Given the description of an element on the screen output the (x, y) to click on. 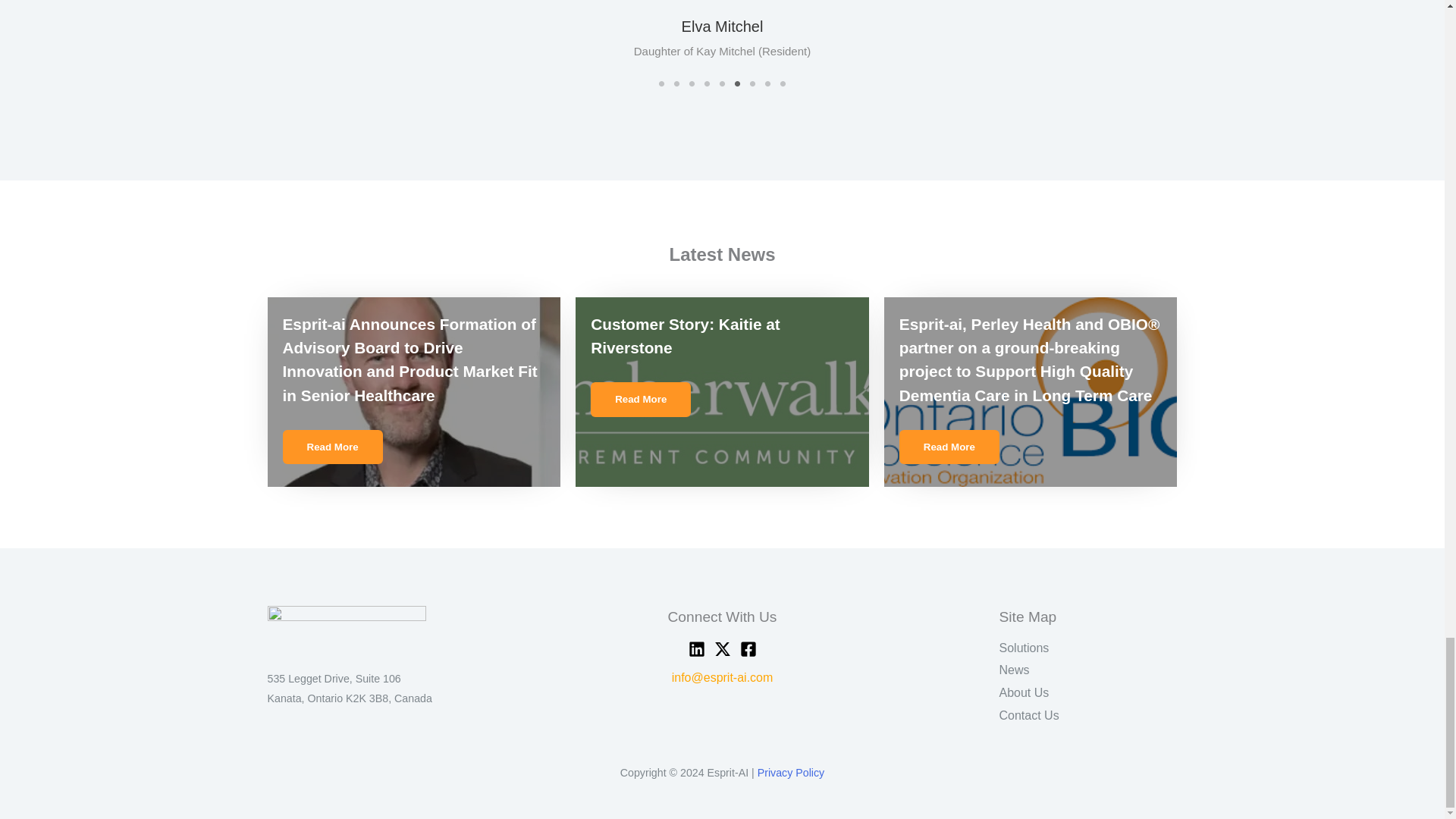
Customer Story: Kaitie at Riverstone (685, 335)
8 (767, 83)
Read More (640, 399)
Read More (331, 446)
Read More (948, 446)
6 (736, 83)
5 (721, 83)
9 (782, 83)
7 (752, 83)
3 (691, 83)
2 (676, 83)
1 (660, 83)
4 (706, 83)
